Given the description of an element on the screen output the (x, y) to click on. 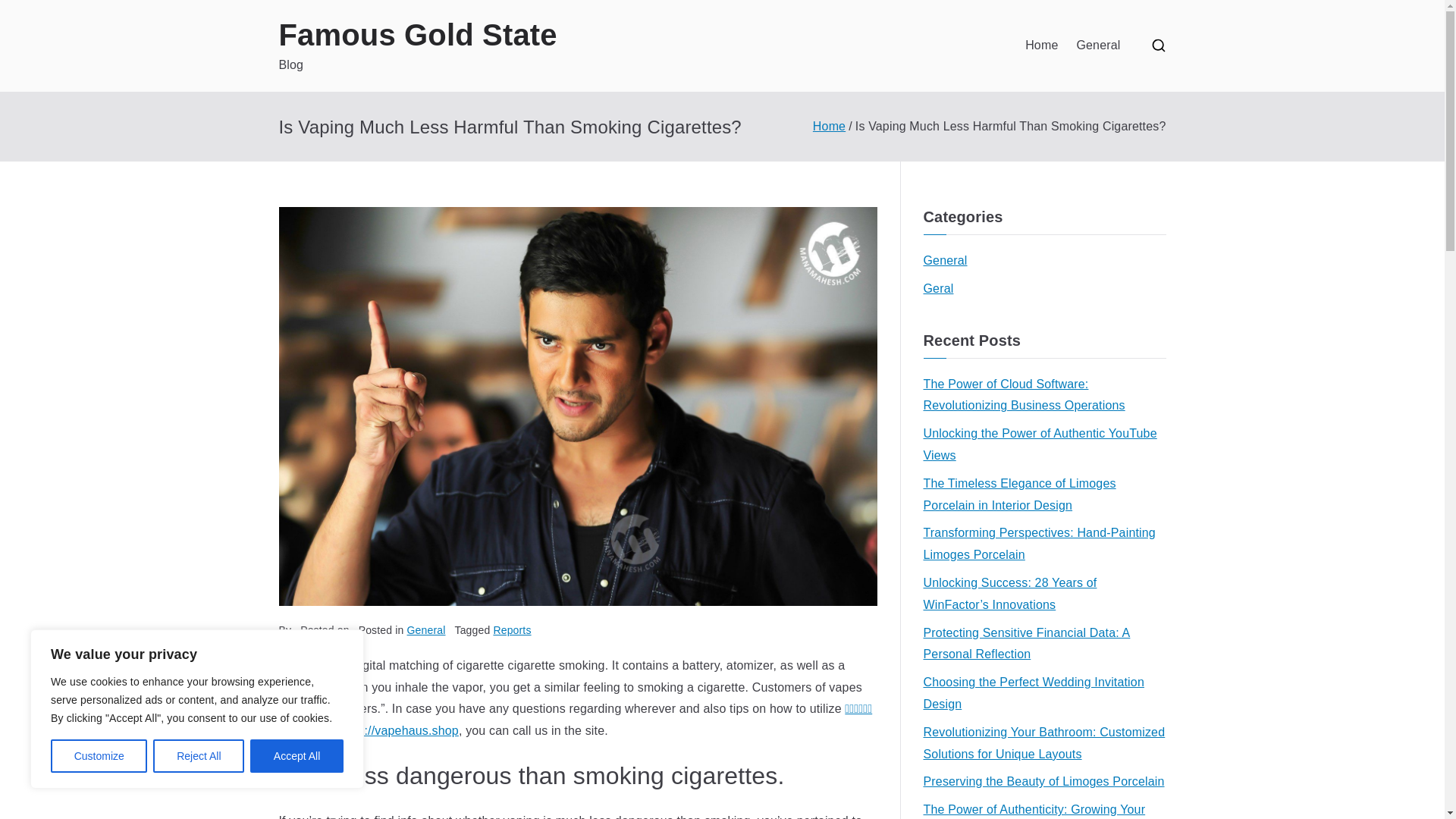
Home (828, 125)
General (945, 260)
Home (1041, 45)
Reject All (198, 756)
Accept All (296, 756)
Reports (512, 630)
General (426, 630)
Famous Gold State (418, 34)
Customize (98, 756)
General (1097, 45)
Geral (938, 289)
